Given the description of an element on the screen output the (x, y) to click on. 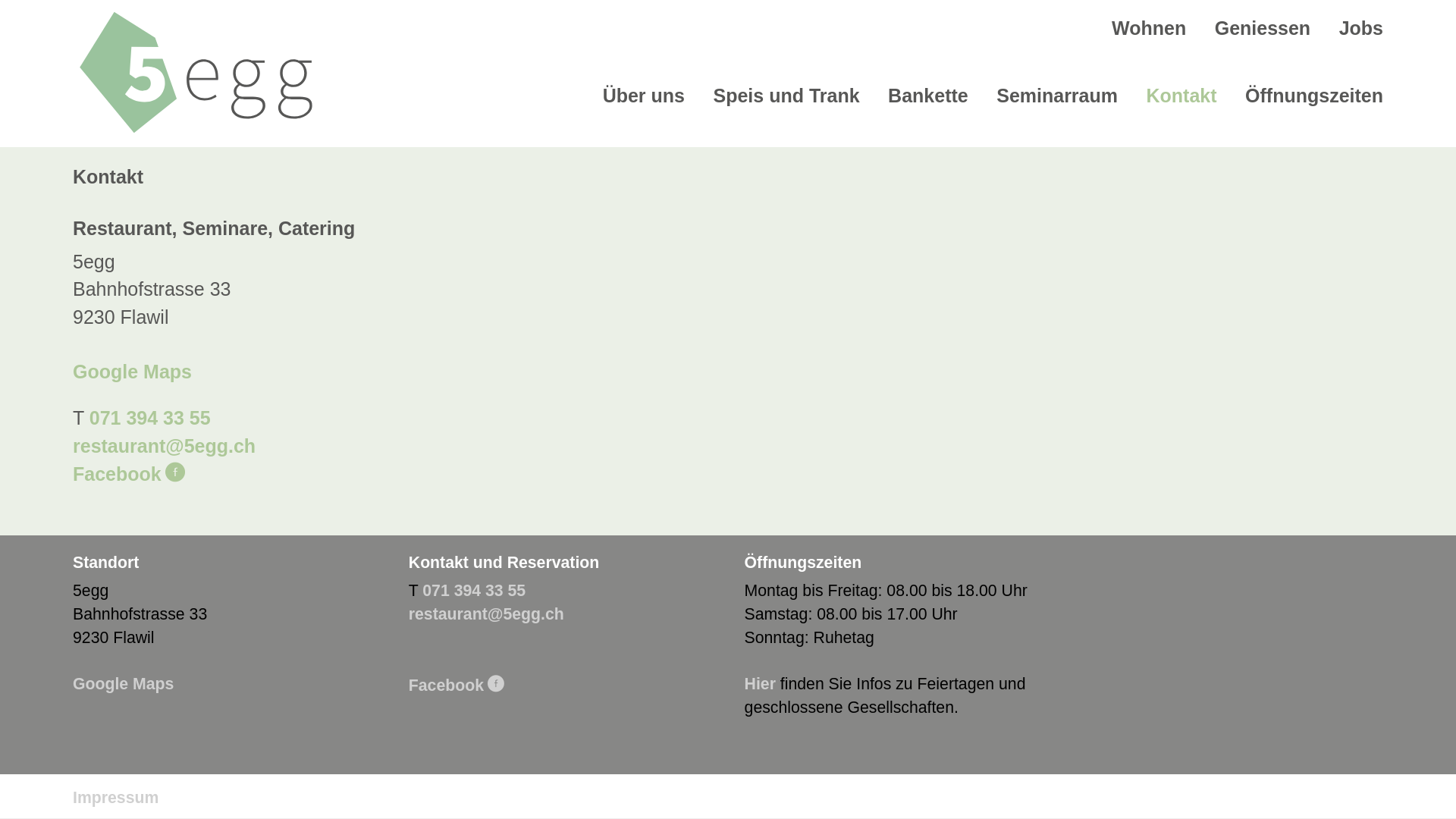
5Egg.ch Element type: hover (195, 72)
Google Maps Element type: text (131, 371)
Jobs Element type: text (1361, 27)
restaurant@5egg.ch Element type: text (486, 614)
Bankette Element type: text (928, 95)
Speis und Trank Element type: text (785, 95)
Google Maps Element type: text (122, 683)
071 394 33 55 Element type: text (149, 417)
Hier Element type: text (759, 683)
Impressum Element type: text (115, 797)
Geniessen Element type: text (1262, 27)
Seminarraum Element type: text (1056, 95)
Facebook Element type: text (455, 685)
Facebook Element type: text (128, 473)
restaurant@5egg.ch Element type: text (163, 445)
071 394 33 55 Element type: text (473, 590)
Wohnen Element type: text (1148, 27)
